Given the description of an element on the screen output the (x, y) to click on. 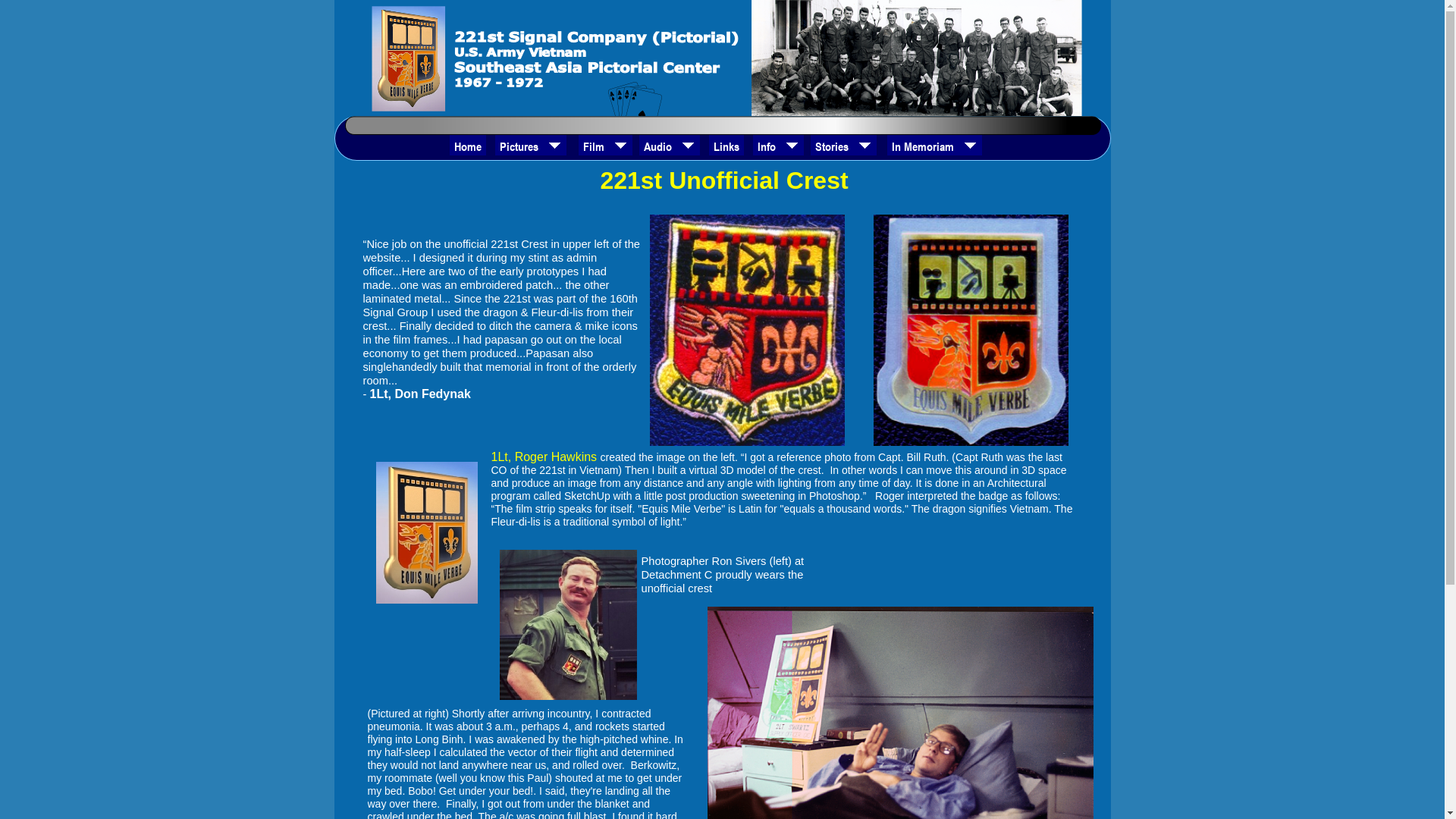
1Lt, Roger Hawkins Element type: text (545, 456)
Links Element type: text (726, 144)
Home Element type: text (467, 144)
